Given the description of an element on the screen output the (x, y) to click on. 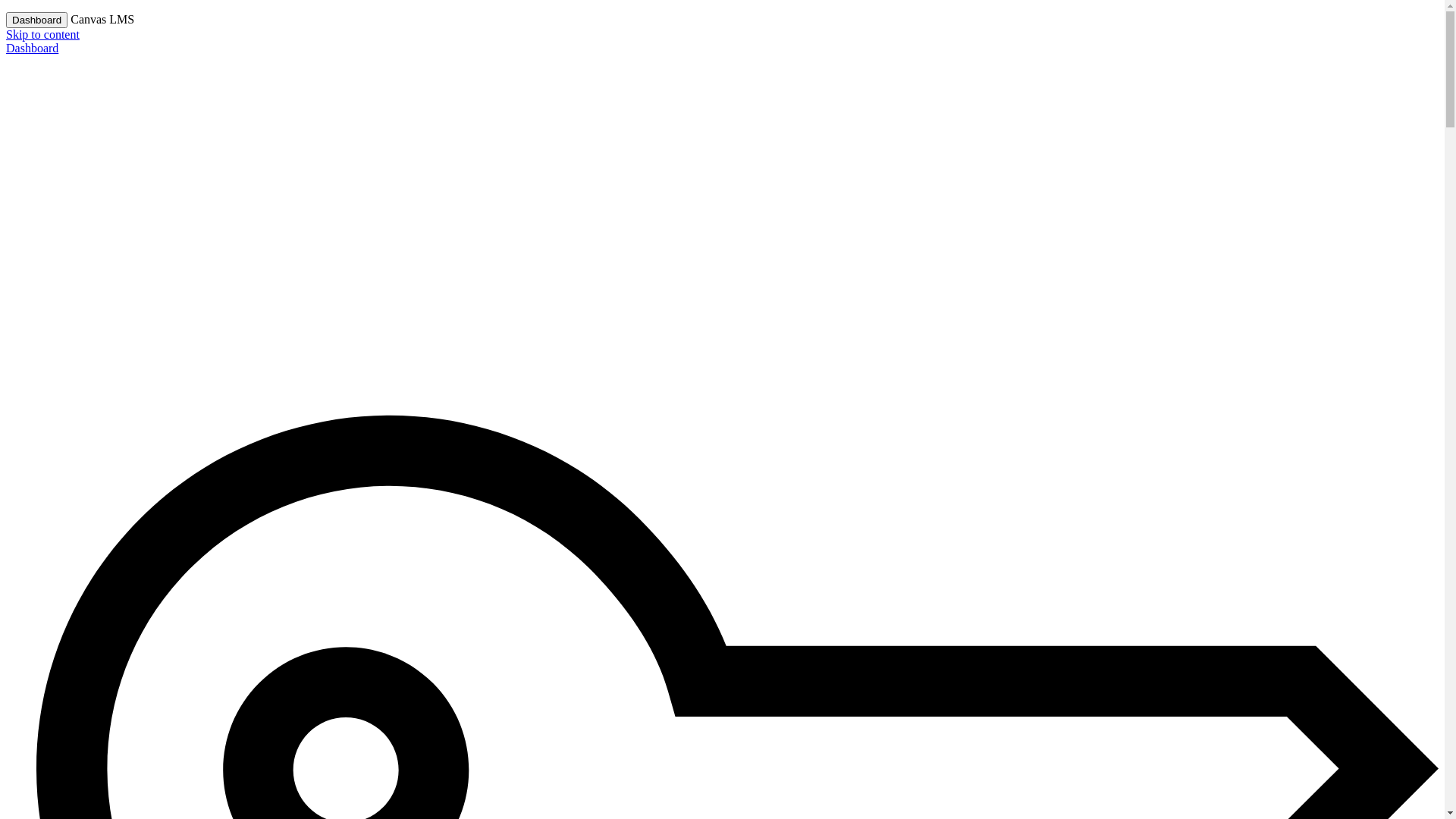
Dashboard Element type: text (32, 47)
Dashboard Element type: text (36, 20)
Skip to content Element type: text (42, 34)
